Given the description of an element on the screen output the (x, y) to click on. 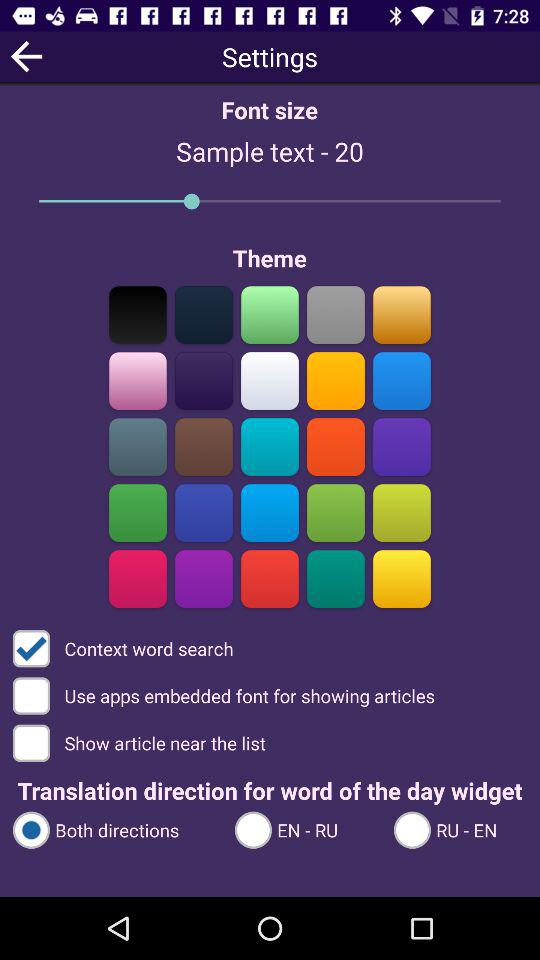
select the color of your text (335, 380)
